Given the description of an element on the screen output the (x, y) to click on. 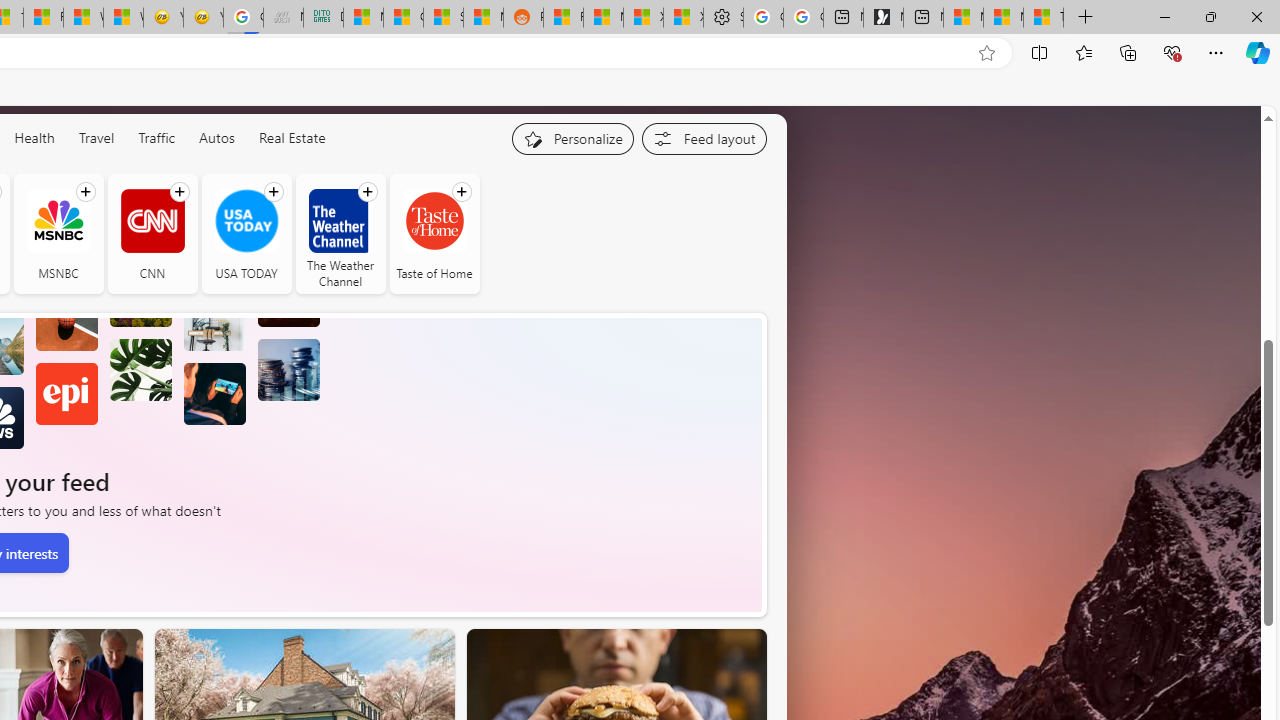
Taste of Home (434, 233)
Taste of Home (434, 220)
